Given the description of an element on the screen output the (x, y) to click on. 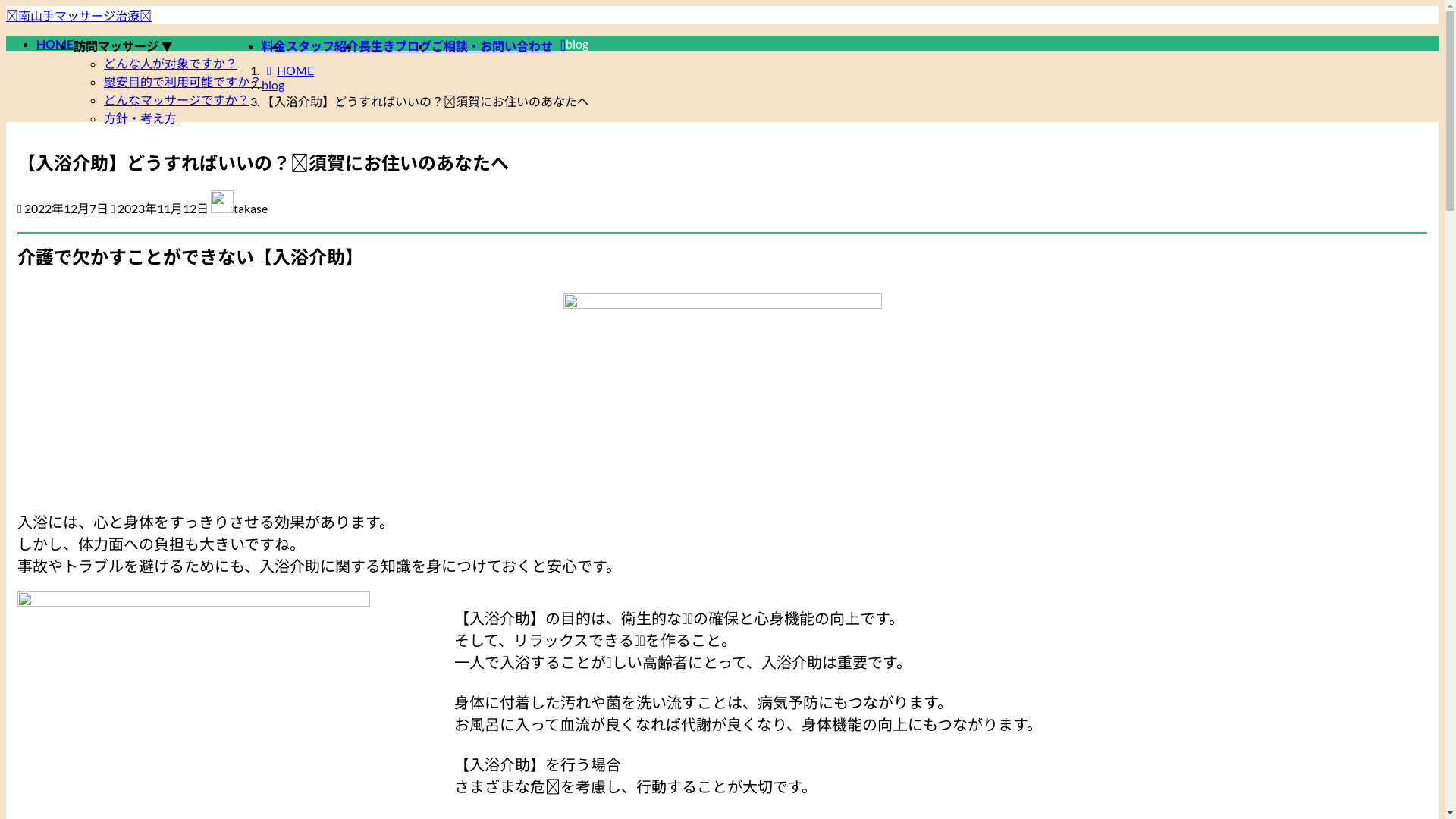
HOME Element type: text (287, 69)
HOME Element type: text (54, 43)
blog Element type: text (272, 84)
